Given the description of an element on the screen output the (x, y) to click on. 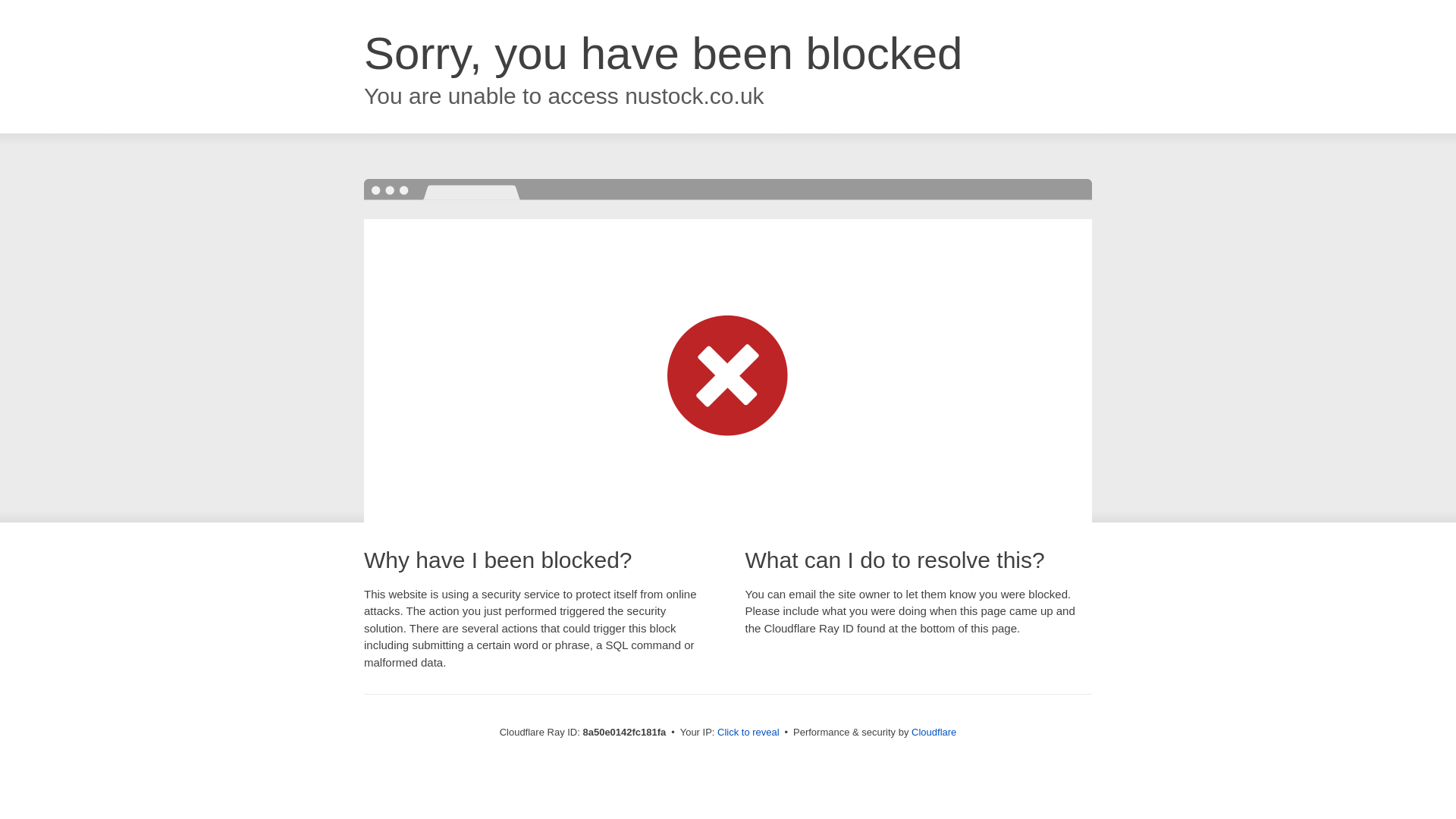
Click to reveal (747, 732)
Cloudflare (933, 731)
